Given the description of an element on the screen output the (x, y) to click on. 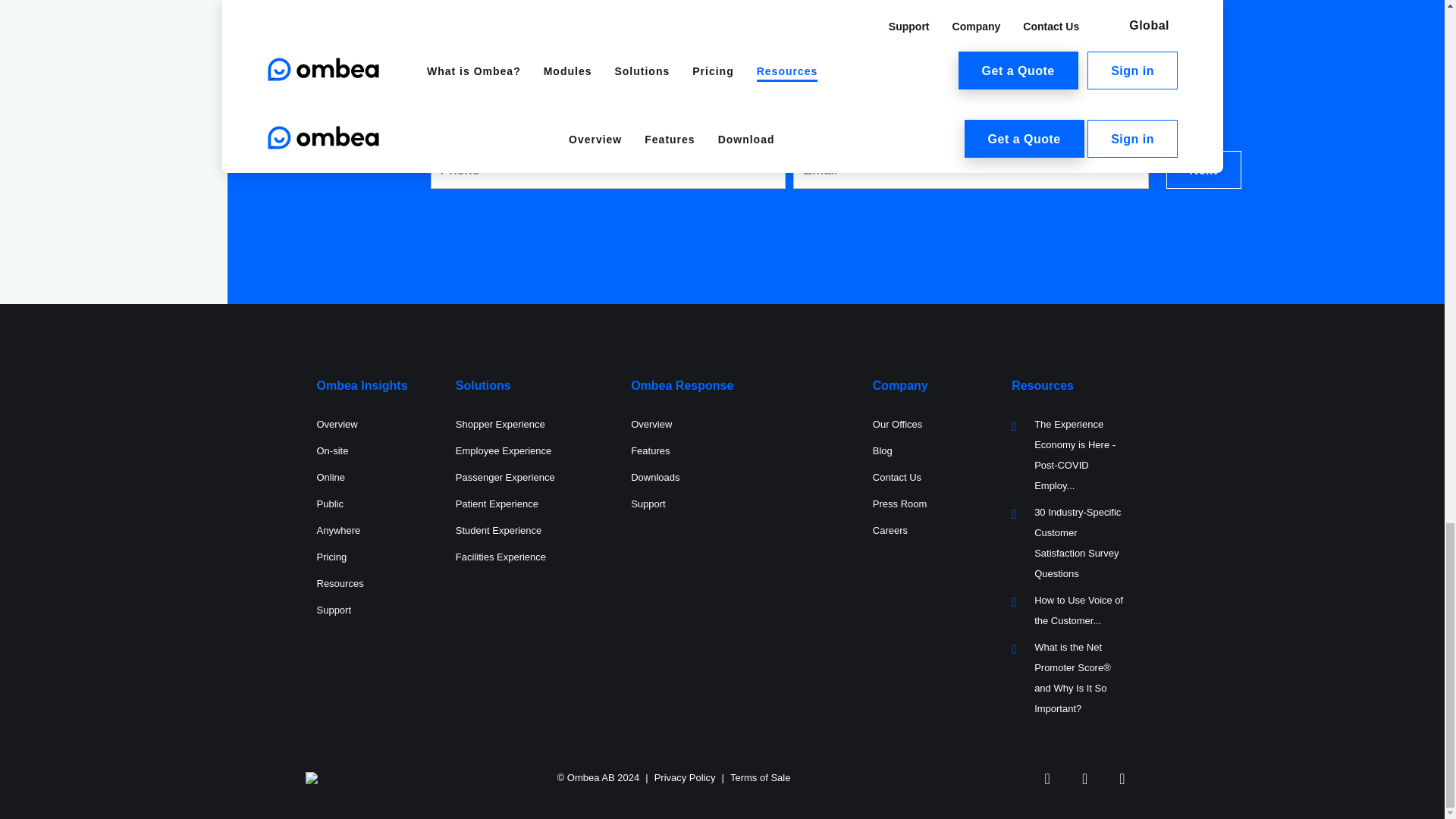
Press Room (899, 503)
Contact Us (896, 477)
Our Offices (897, 423)
Careers (889, 530)
Blog (882, 450)
